Given the description of an element on the screen output the (x, y) to click on. 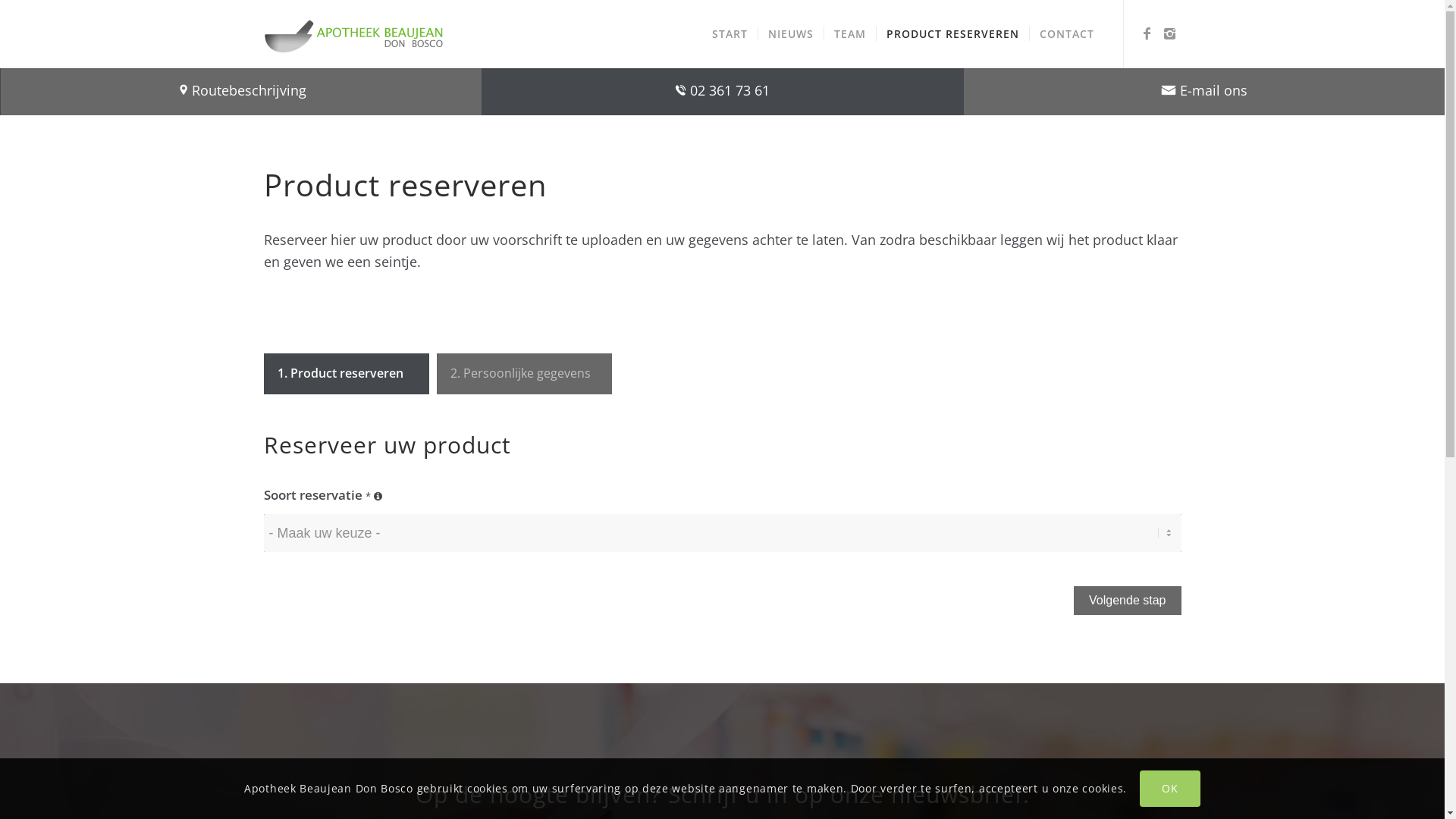
Instagram Element type: hover (1169, 32)
CONTACT Element type: text (1065, 34)
NIEUWS Element type: text (789, 34)
OK Element type: text (1169, 788)
2. Persoonlijke gegevens Element type: text (523, 373)
Facebook Element type: hover (1146, 32)
1. Product reserveren Element type: text (346, 373)
PRODUCT RESERVEREN Element type: text (951, 34)
START Element type: text (729, 34)
TEAM Element type: text (849, 34)
